Given the description of an element on the screen output the (x, y) to click on. 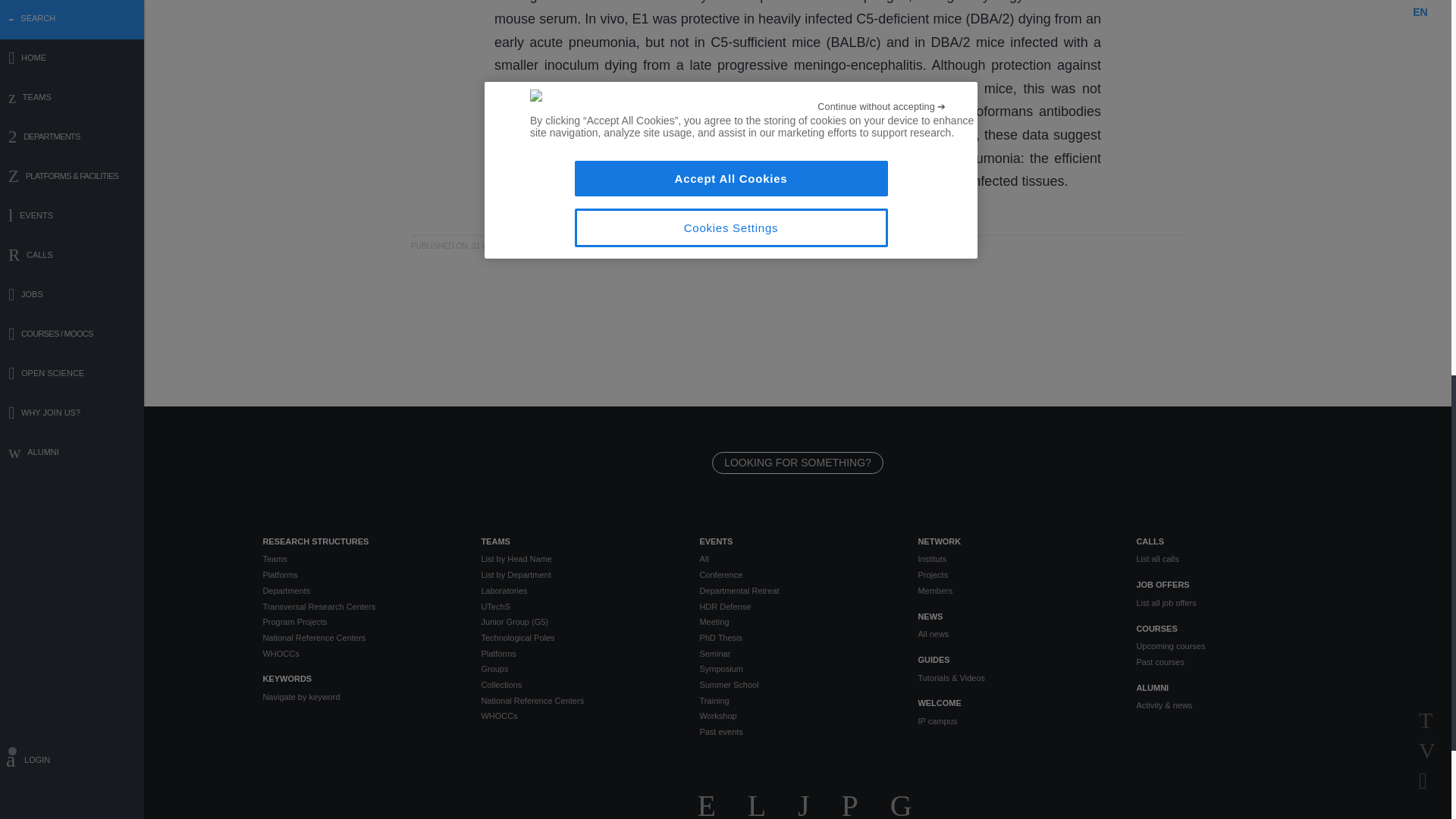
Departments (360, 590)
Platforms (360, 575)
Teams (360, 559)
Transversal Research Centers (360, 605)
